Given the description of an element on the screen output the (x, y) to click on. 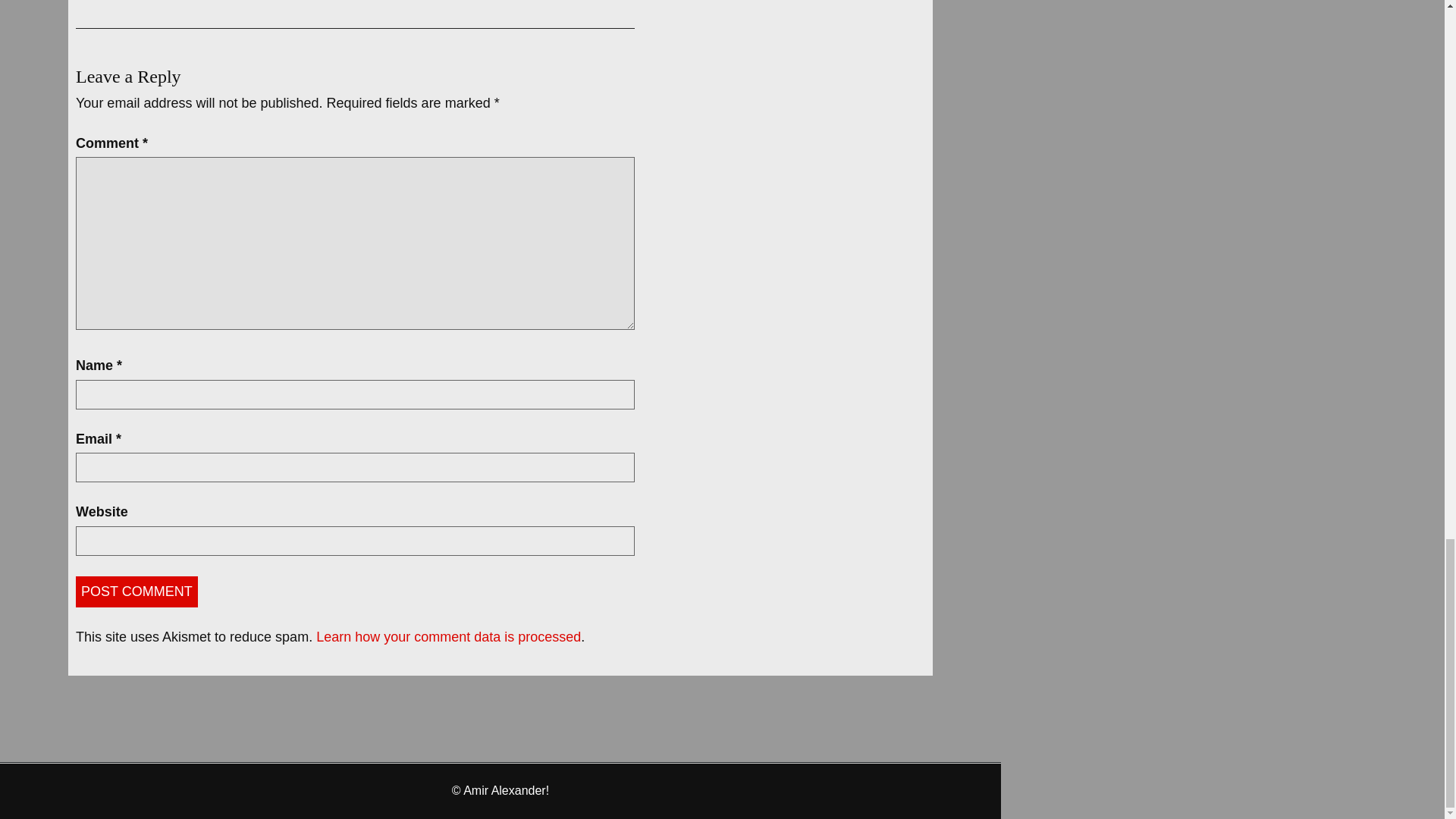
Learn how your comment data is processed (447, 636)
Post Comment (136, 591)
Post Comment (136, 591)
